Given the description of an element on the screen output the (x, y) to click on. 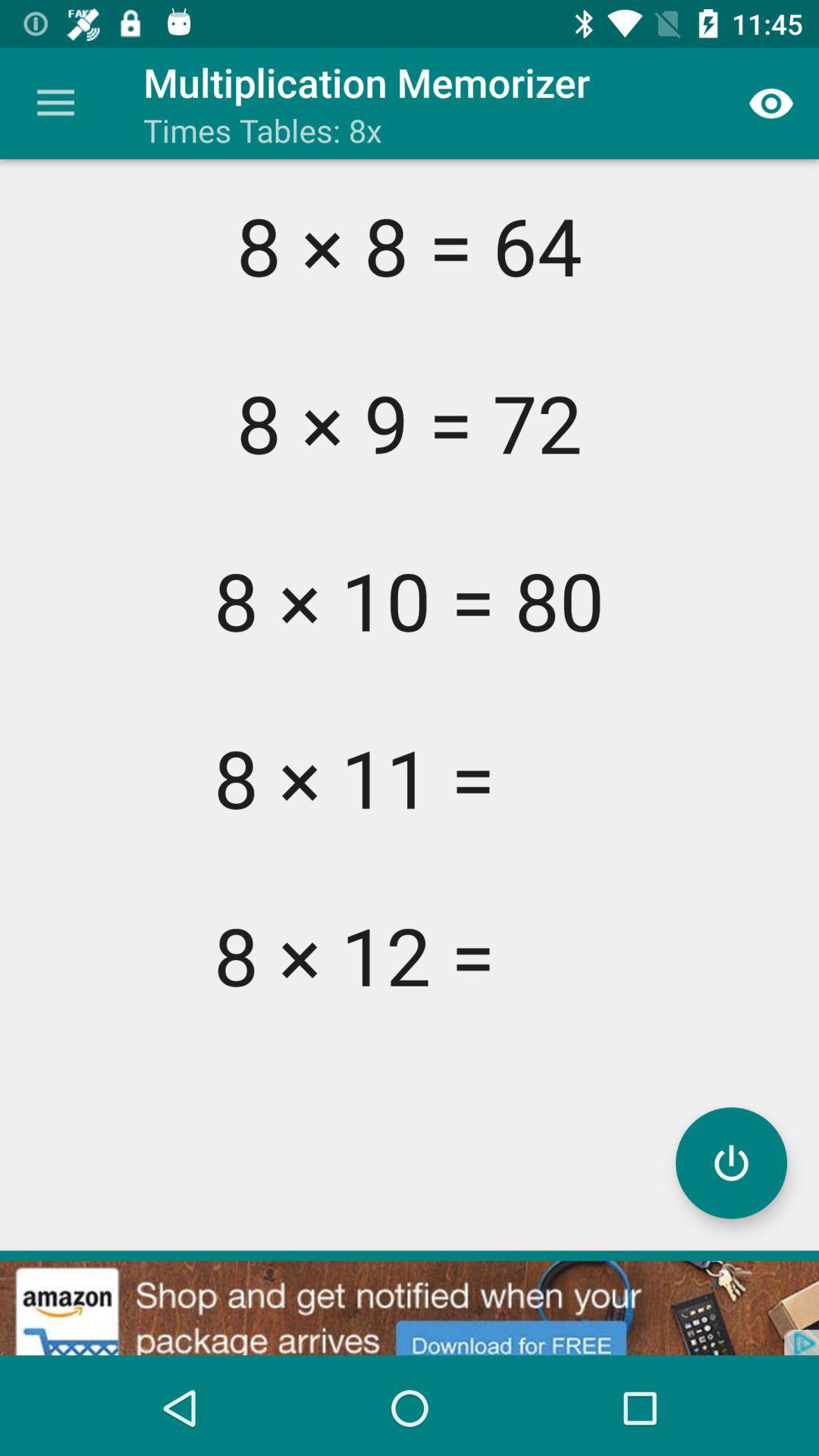
turn off/on program (731, 1162)
